Given the description of an element on the screen output the (x, y) to click on. 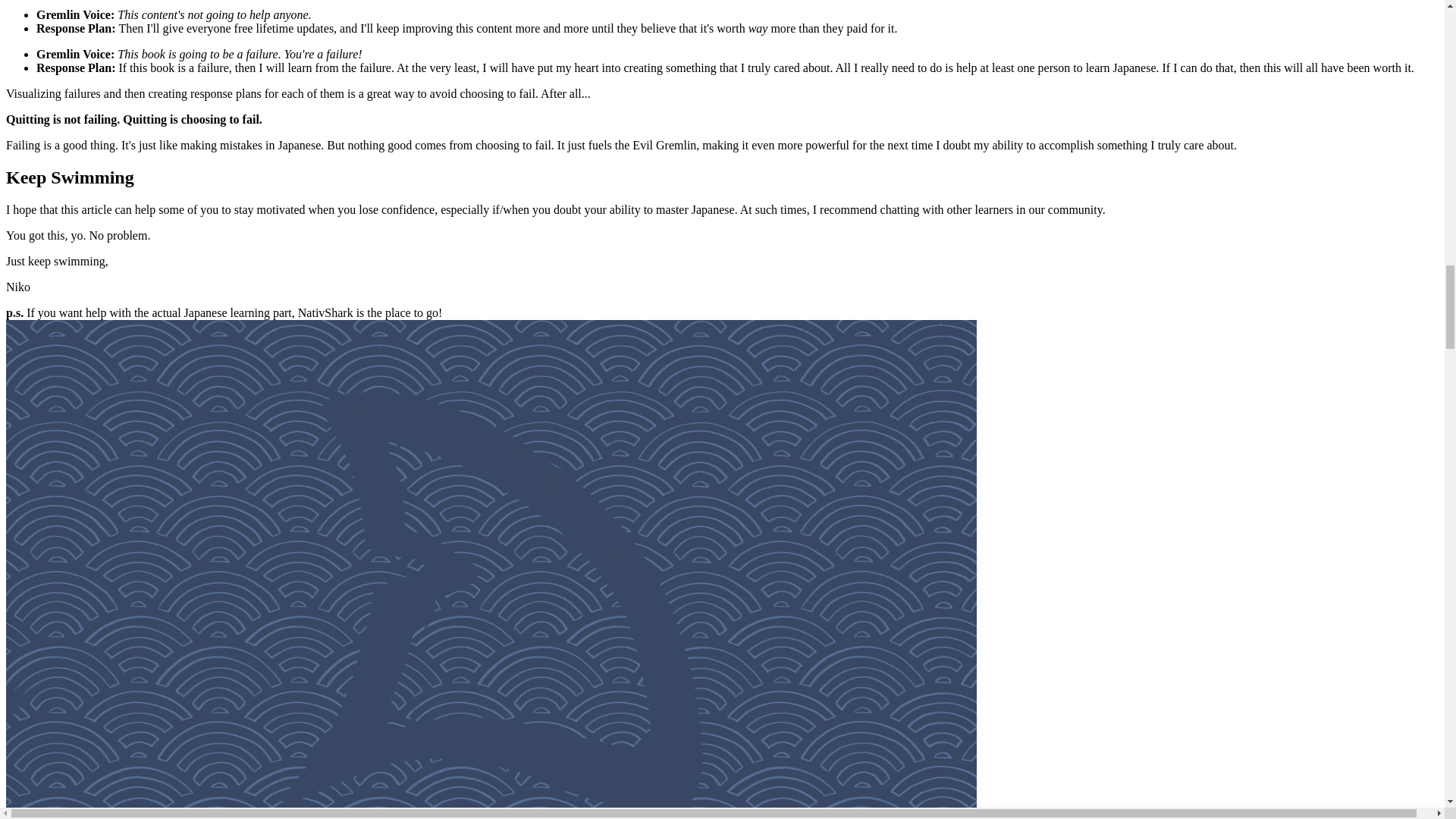
NativShark (325, 312)
making mistakes in Japanese (250, 144)
our community (1065, 209)
